Given the description of an element on the screen output the (x, y) to click on. 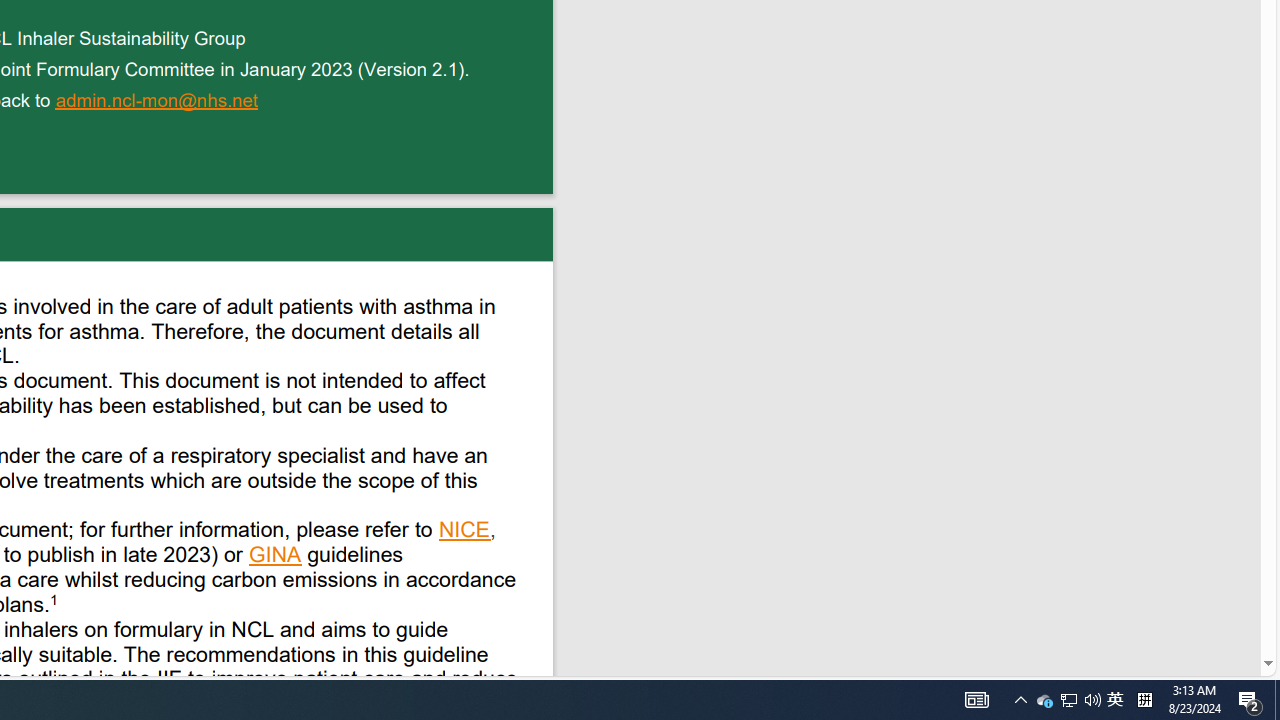
admin.ncl-mon@nhs.net (157, 102)
GINA  (276, 557)
NICE (465, 532)
